Given the description of an element on the screen output the (x, y) to click on. 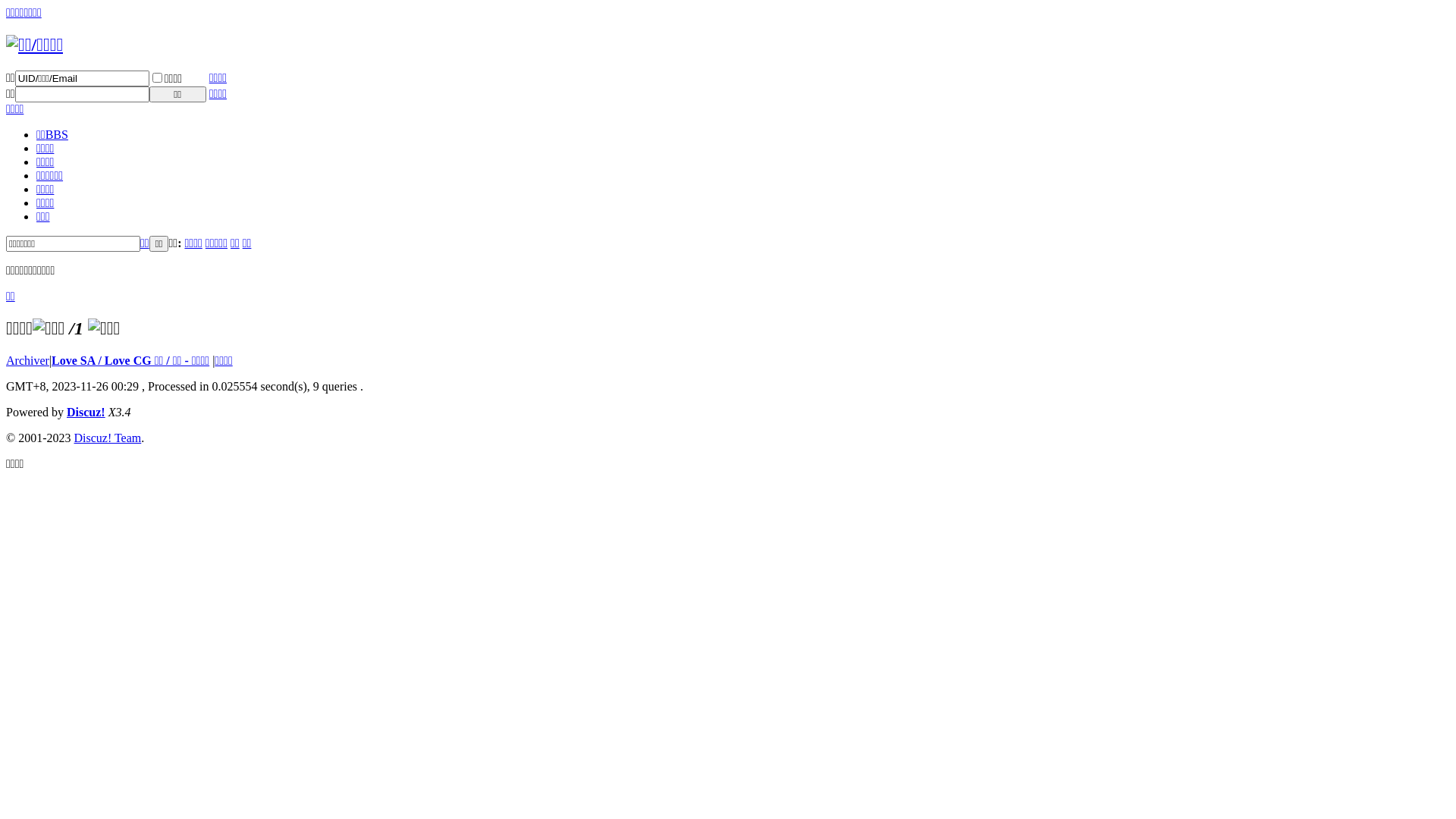
Discuz! Team Element type: text (107, 437)
Discuz! Element type: text (85, 411)
Archiver Element type: text (27, 360)
